Given the description of an element on the screen output the (x, y) to click on. 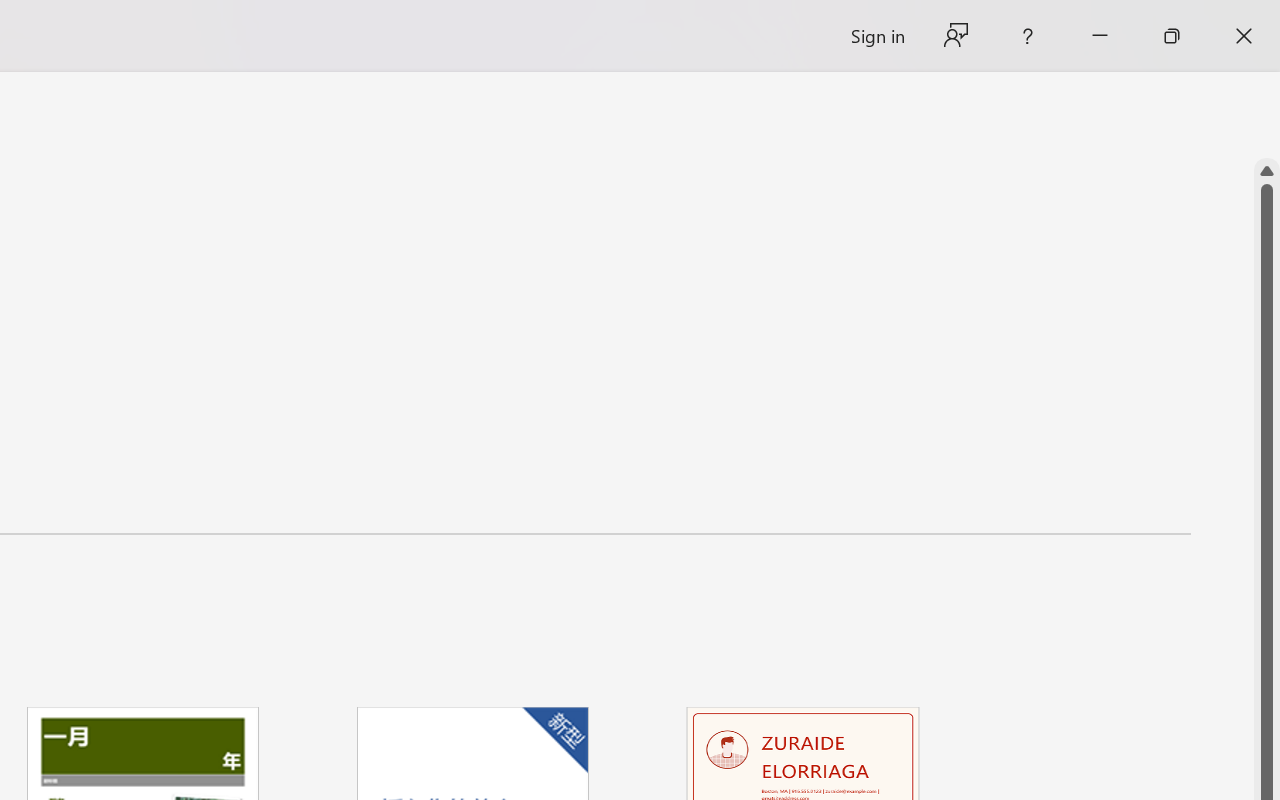
Line up (1267, 171)
